Given the description of an element on the screen output the (x, y) to click on. 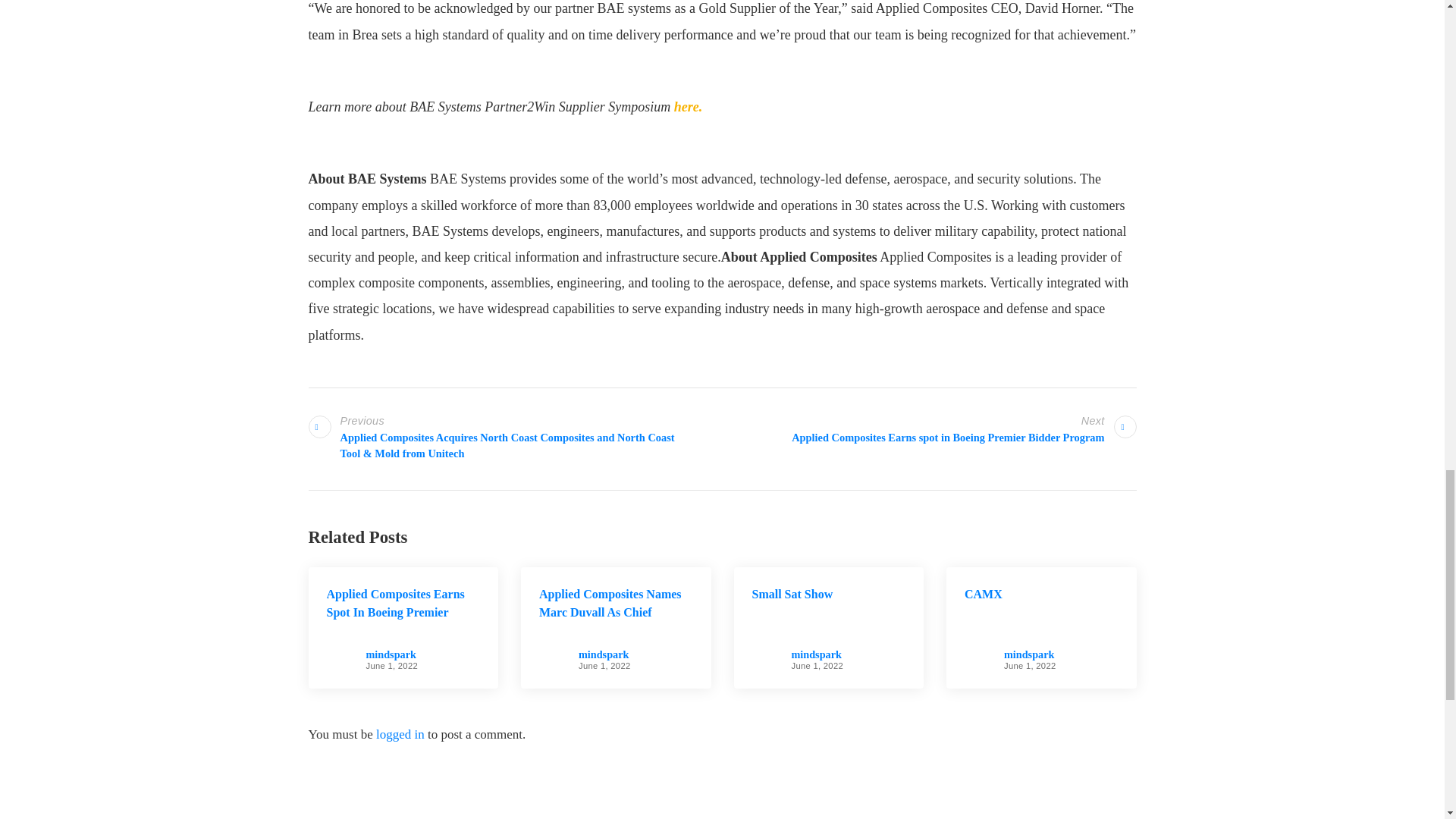
Posts by mindspark (603, 654)
here. (688, 106)
Posts by mindspark (389, 654)
Posts by mindspark (816, 654)
Posts by mindspark (1029, 654)
mindspark (389, 654)
